Given the description of an element on the screen output the (x, y) to click on. 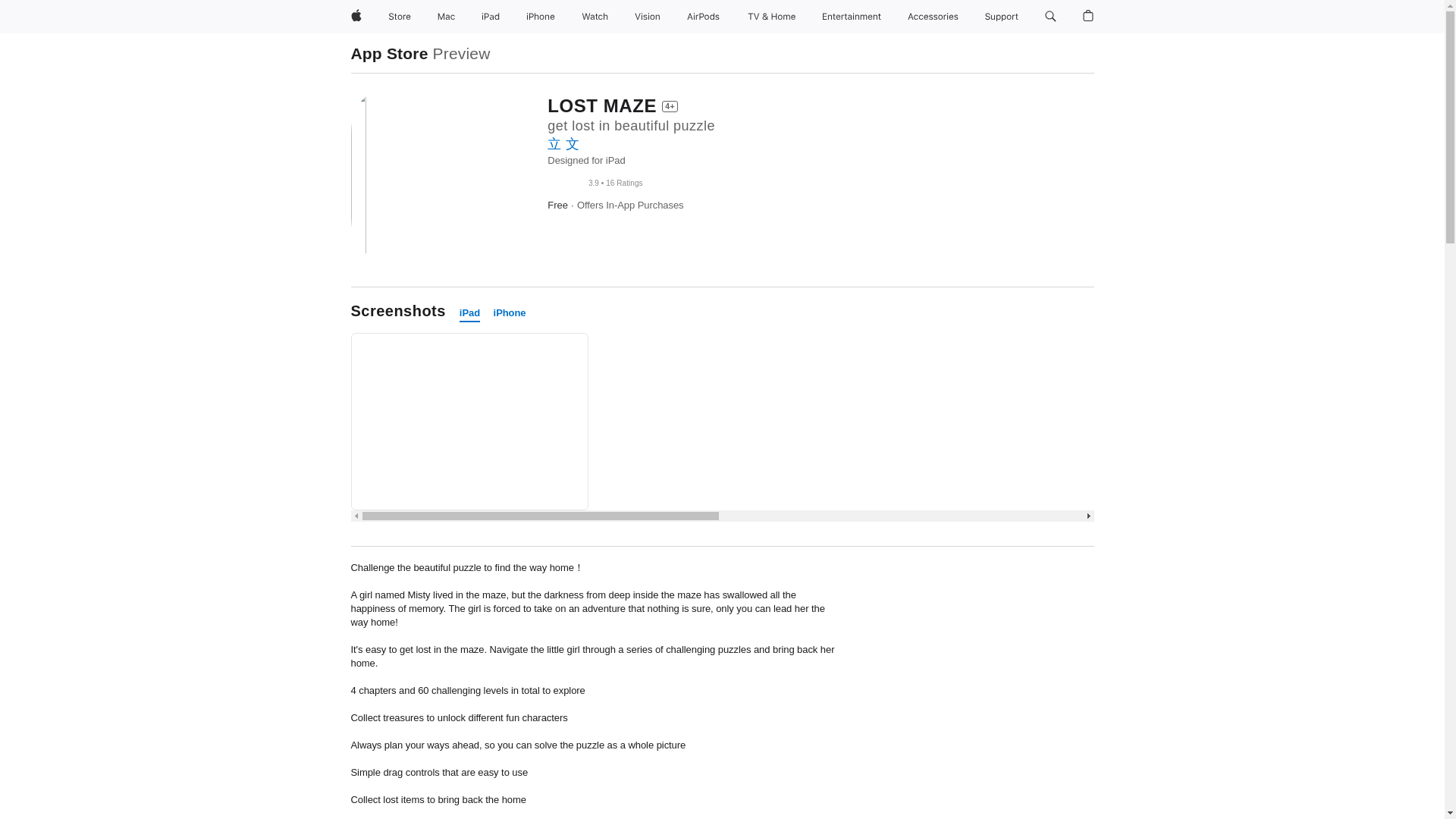
iPhone (539, 16)
Entertainment (851, 16)
Support (1001, 16)
Accessories (932, 16)
Watch (594, 16)
Store (398, 16)
iPad (470, 313)
App Store (389, 53)
iPad (490, 16)
Vision (647, 16)
AirPods (703, 16)
iPhone (509, 313)
